Given the description of an element on the screen output the (x, y) to click on. 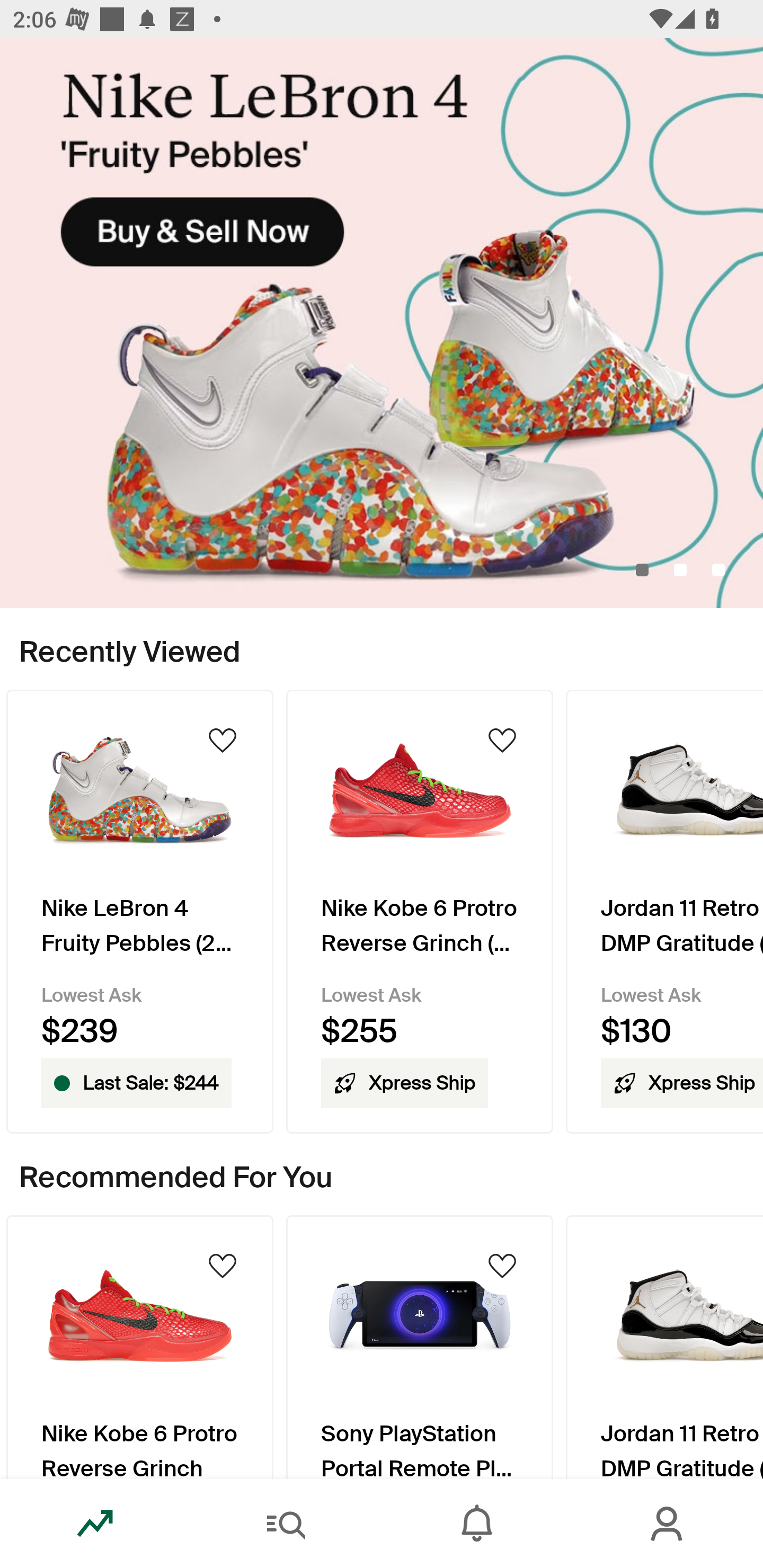
Product Image Nike Kobe 6 Protro Reverse Grinch (139, 1346)
Search (285, 1523)
Inbox (476, 1523)
Account (667, 1523)
